Given the description of an element on the screen output the (x, y) to click on. 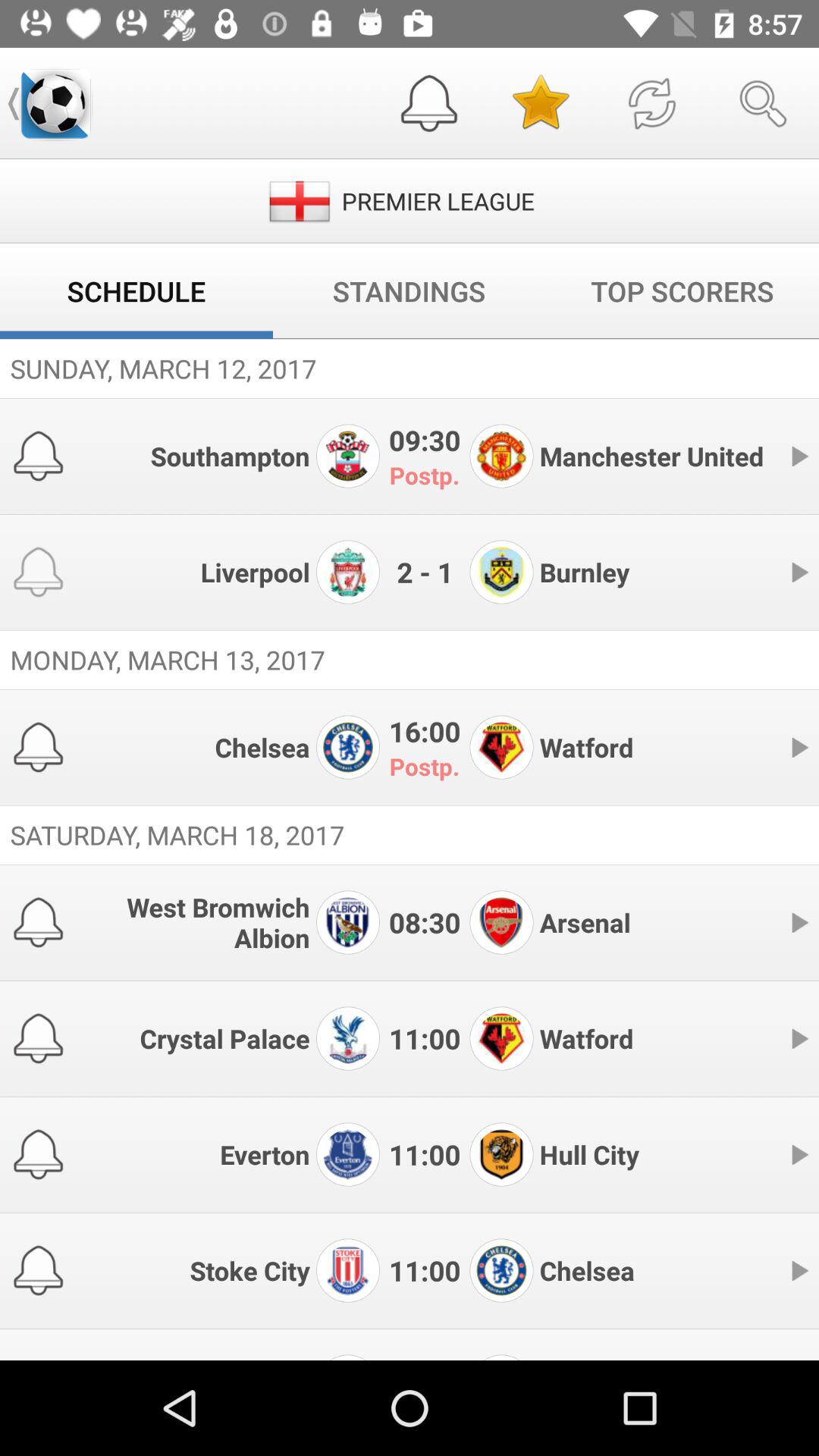
turn on the item above the top scorers item (651, 103)
